Given the description of an element on the screen output the (x, y) to click on. 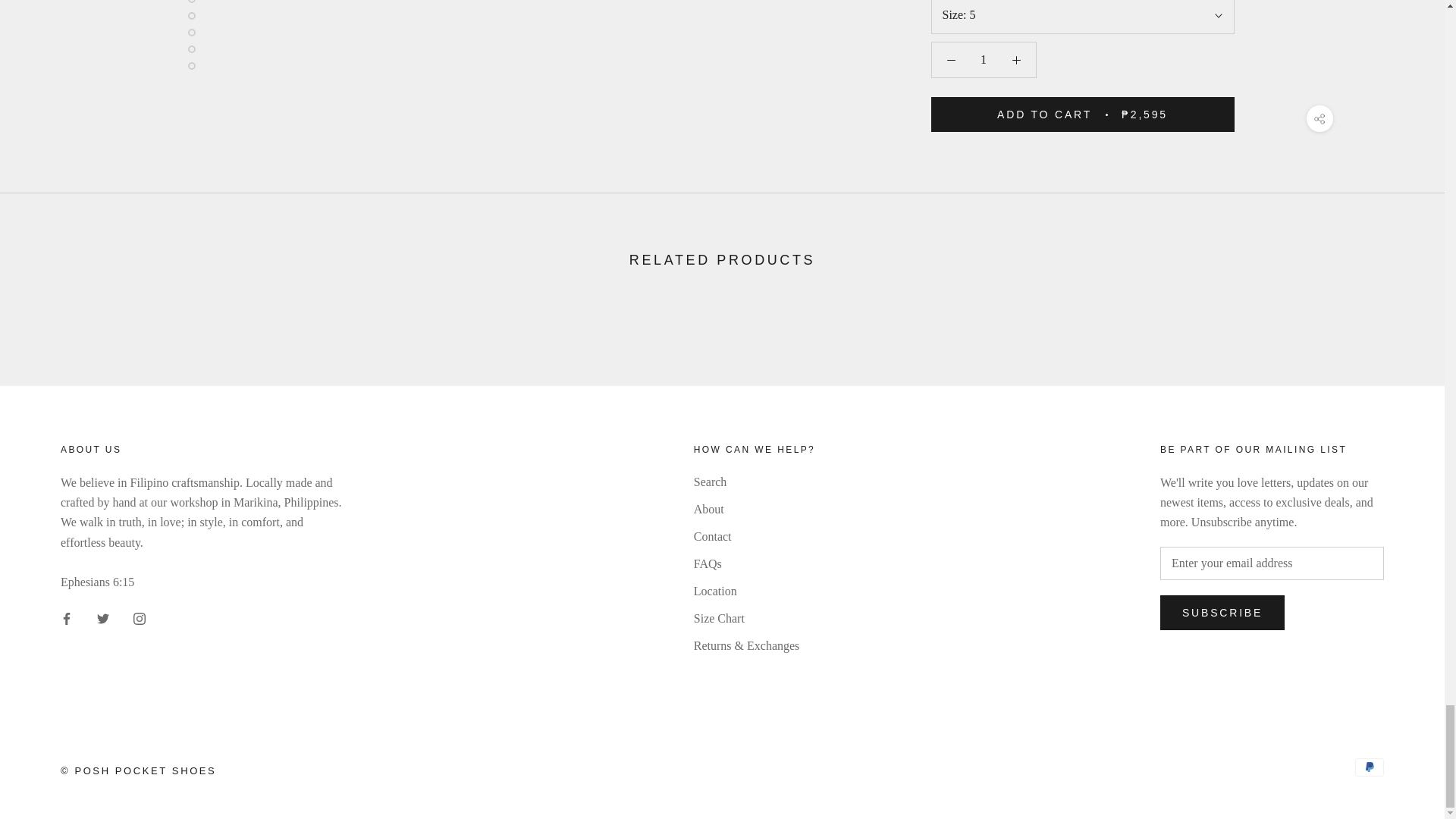
PayPal (1369, 767)
